Given the description of an element on the screen output the (x, y) to click on. 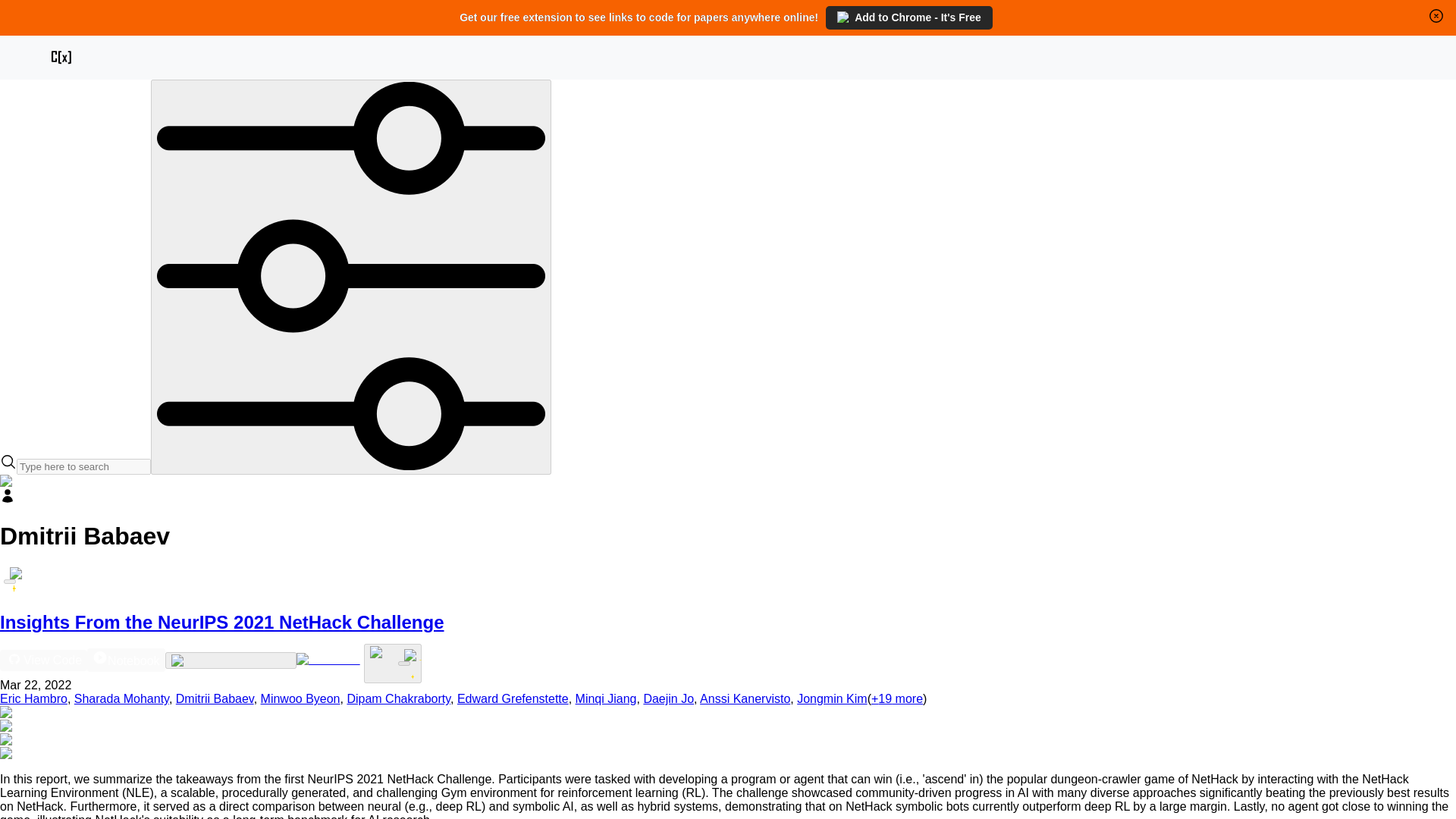
Jongmin Kim (831, 698)
Sharada Mohanty (121, 698)
Github IconView Code (43, 658)
Minwoo Byeon (300, 698)
Github IconView Code (43, 660)
Add to Chrome - It's Free (908, 17)
Dmitrii Babaev (214, 698)
Edward Grefenstette (513, 698)
Dipam Chakraborty (397, 698)
Get notified when a new paper is added by the author (10, 581)
Eric Hambro (33, 698)
Minqi Jiang (606, 698)
Bookmark this paper (393, 663)
Github Icon (14, 658)
View code for similar papers (230, 660)
